Given the description of an element on the screen output the (x, y) to click on. 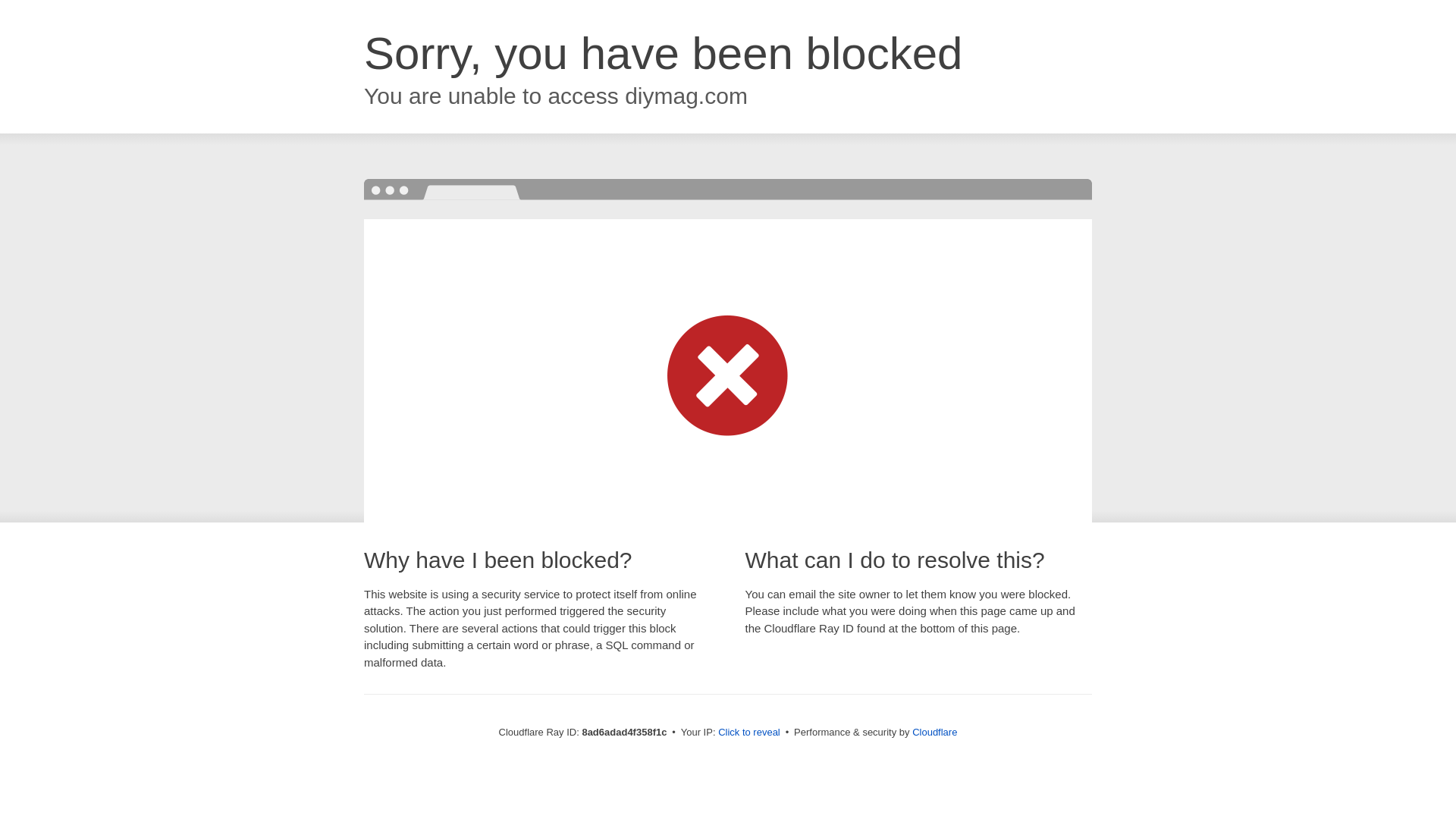
Cloudflare (934, 731)
Click to reveal (748, 732)
